Given the description of an element on the screen output the (x, y) to click on. 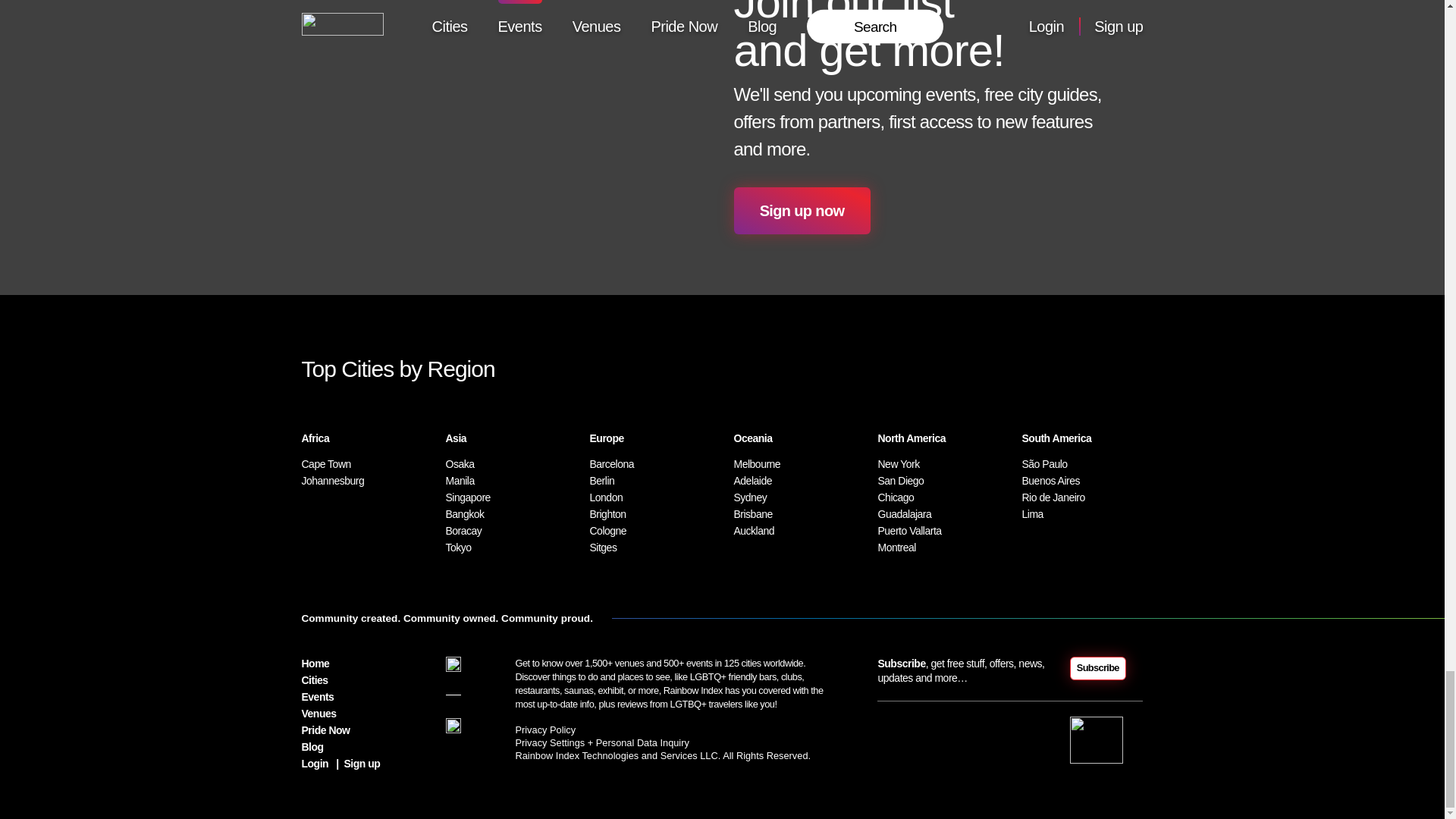
Link to Instagram (453, 663)
Link to Facebook (453, 725)
